Given the description of an element on the screen output the (x, y) to click on. 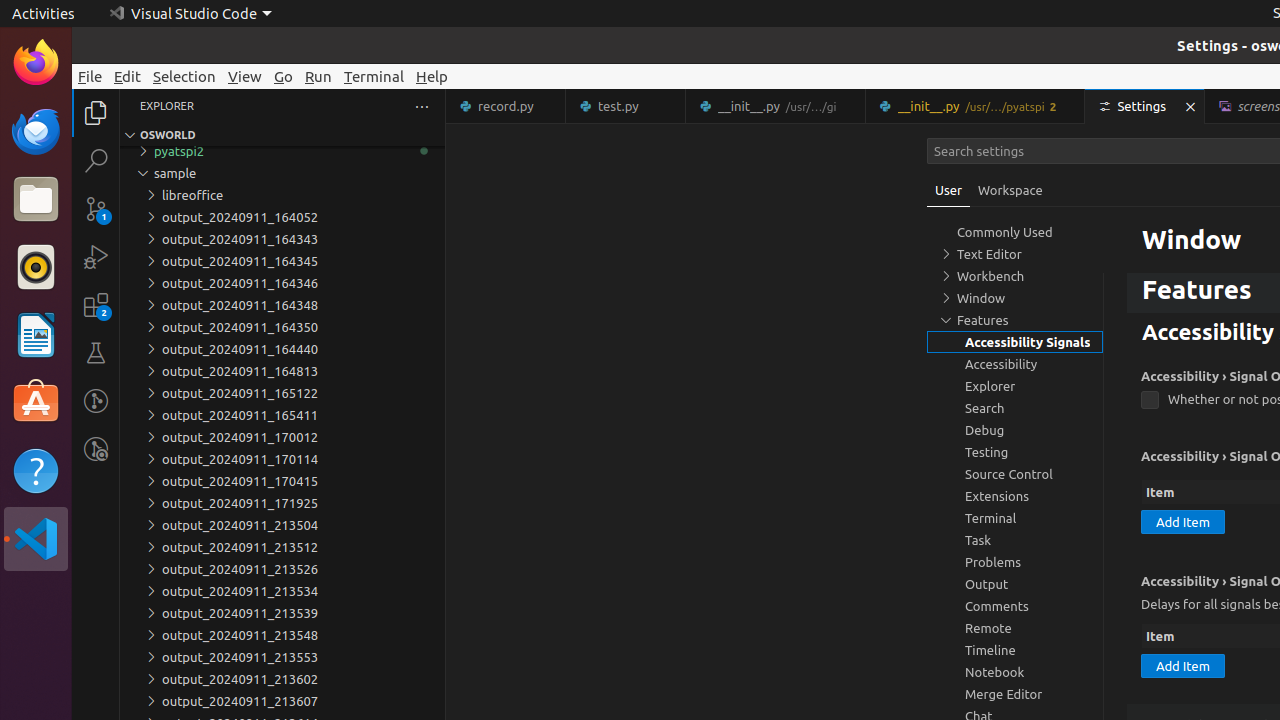
Task, group Element type: tree-item (1015, 540)
Notebook, group Element type: tree-item (1015, 672)
Source Control (Ctrl+Shift+G G) - 1 pending changes Source Control (Ctrl+Shift+G G) - 1 pending changes Element type: page-tab (96, 208)
Timeline, group Element type: tree-item (1015, 650)
